Given the description of an element on the screen output the (x, y) to click on. 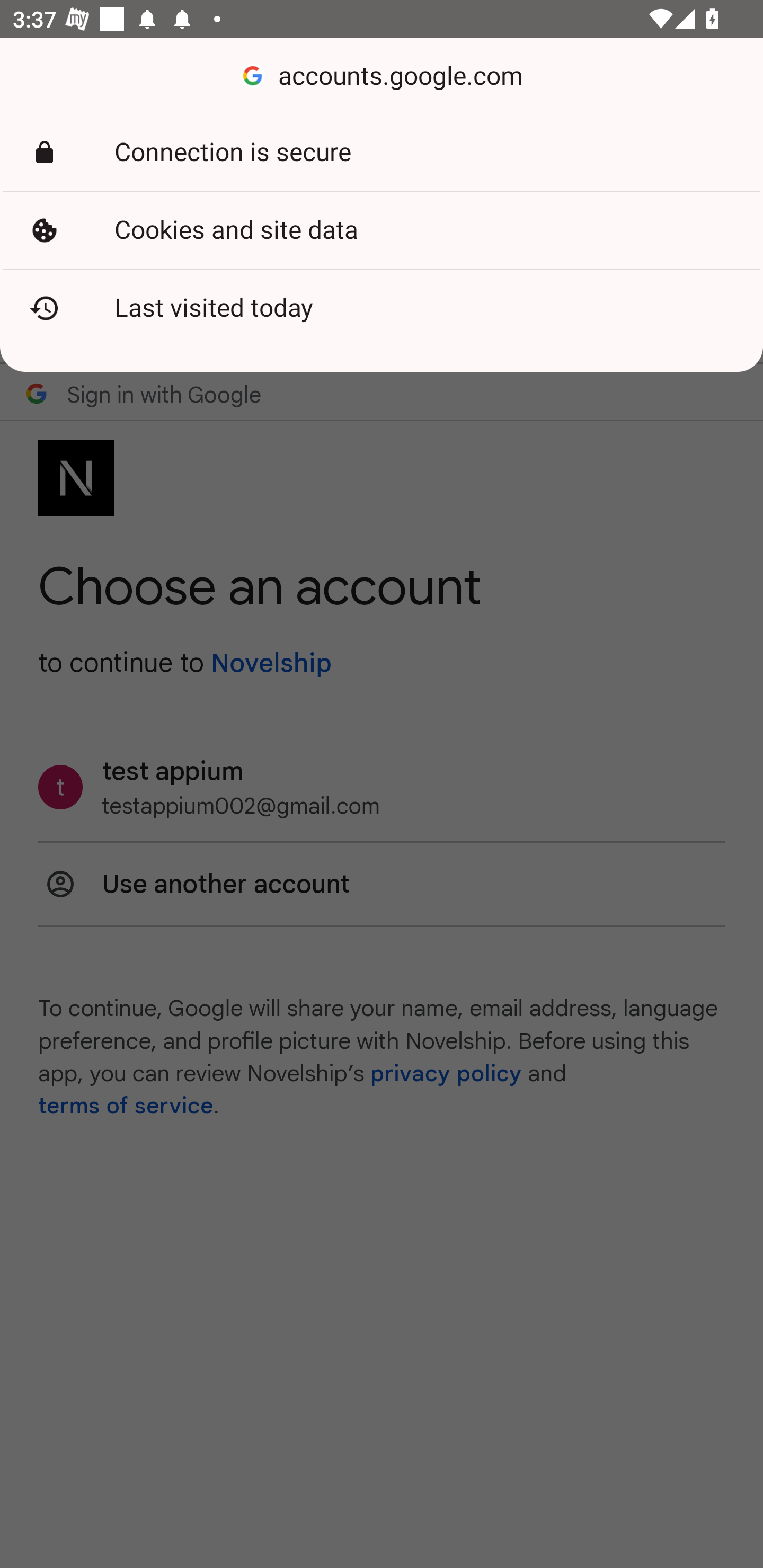
accounts.google.com (381, 75)
Connection is secure (381, 152)
Cookies and site data (381, 230)
Last visited today (381, 307)
